Given the description of an element on the screen output the (x, y) to click on. 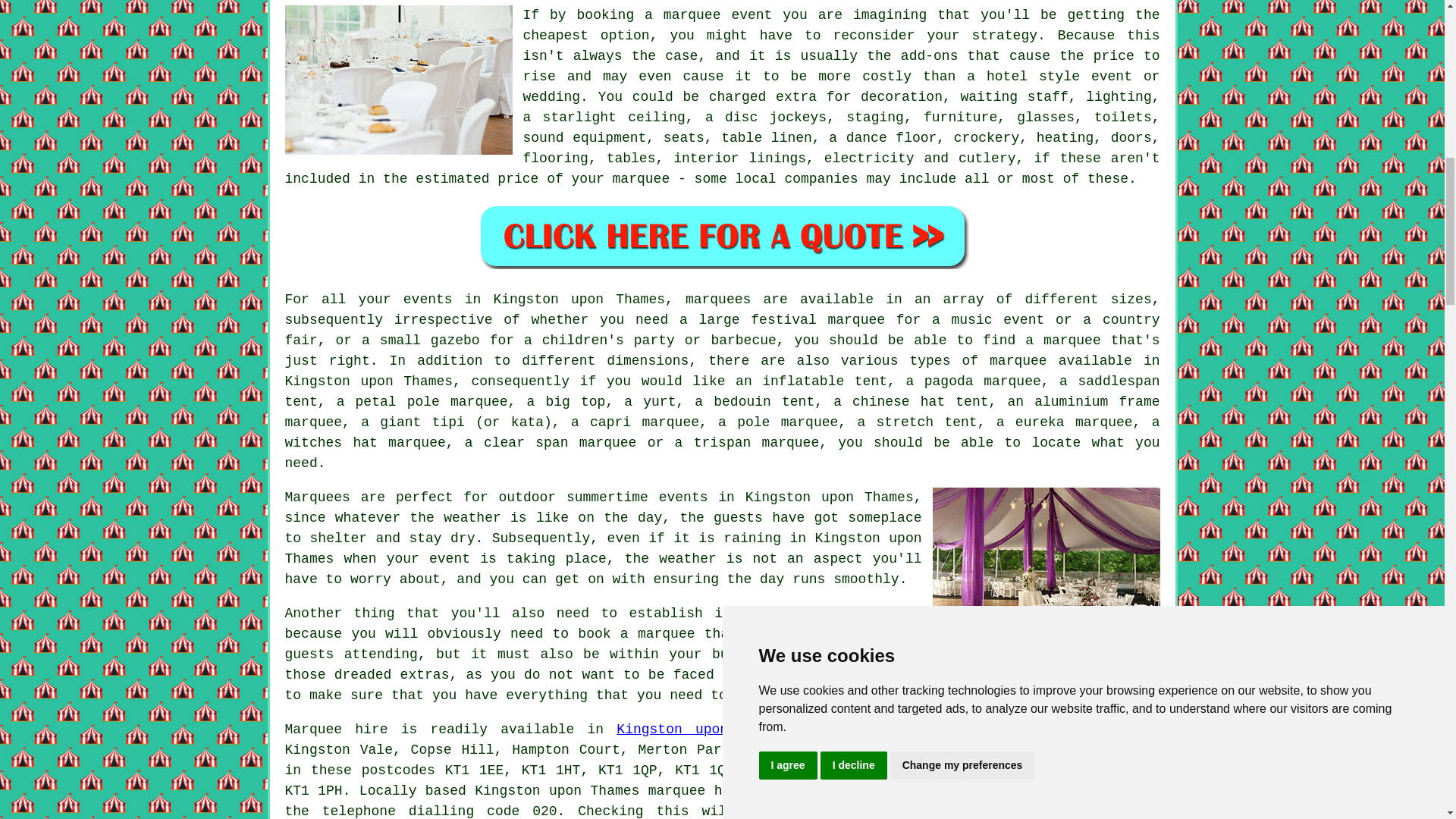
hotel style (1033, 76)
Marquee hire (336, 729)
Marquee Hire Quotes in Kingston upon Thames Greater London (722, 236)
marquee hire (696, 790)
